Given the description of an element on the screen output the (x, y) to click on. 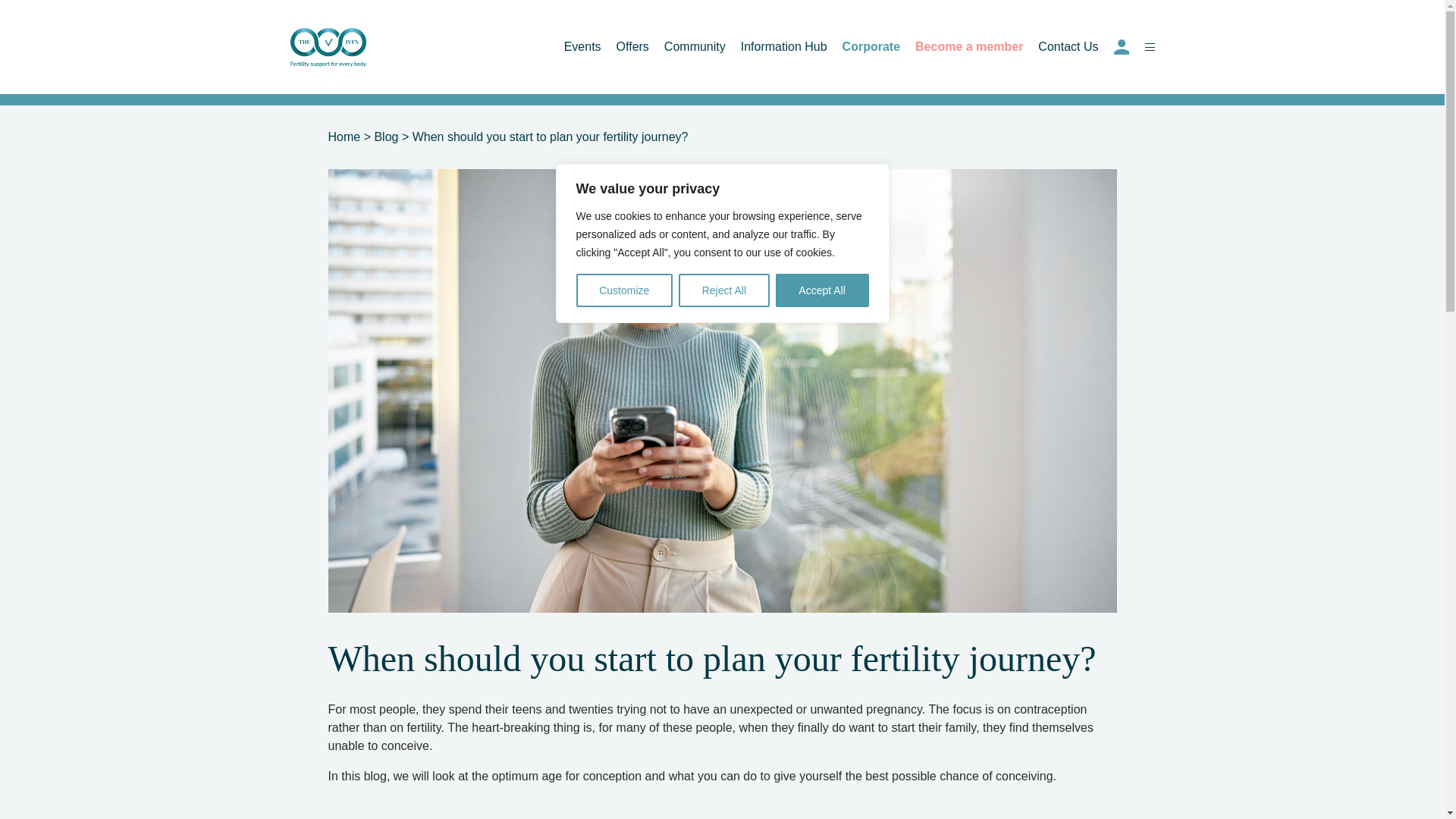
Become a member (969, 46)
Community (694, 46)
Blog (385, 136)
Customize (624, 290)
Log In (1121, 47)
Contact Us (1067, 46)
Accept All (822, 290)
Offers (632, 46)
Reject All (724, 290)
Corporate (871, 46)
Information Hub (784, 46)
Events (582, 46)
The IVF Network (327, 46)
Home (343, 136)
